Given the description of an element on the screen output the (x, y) to click on. 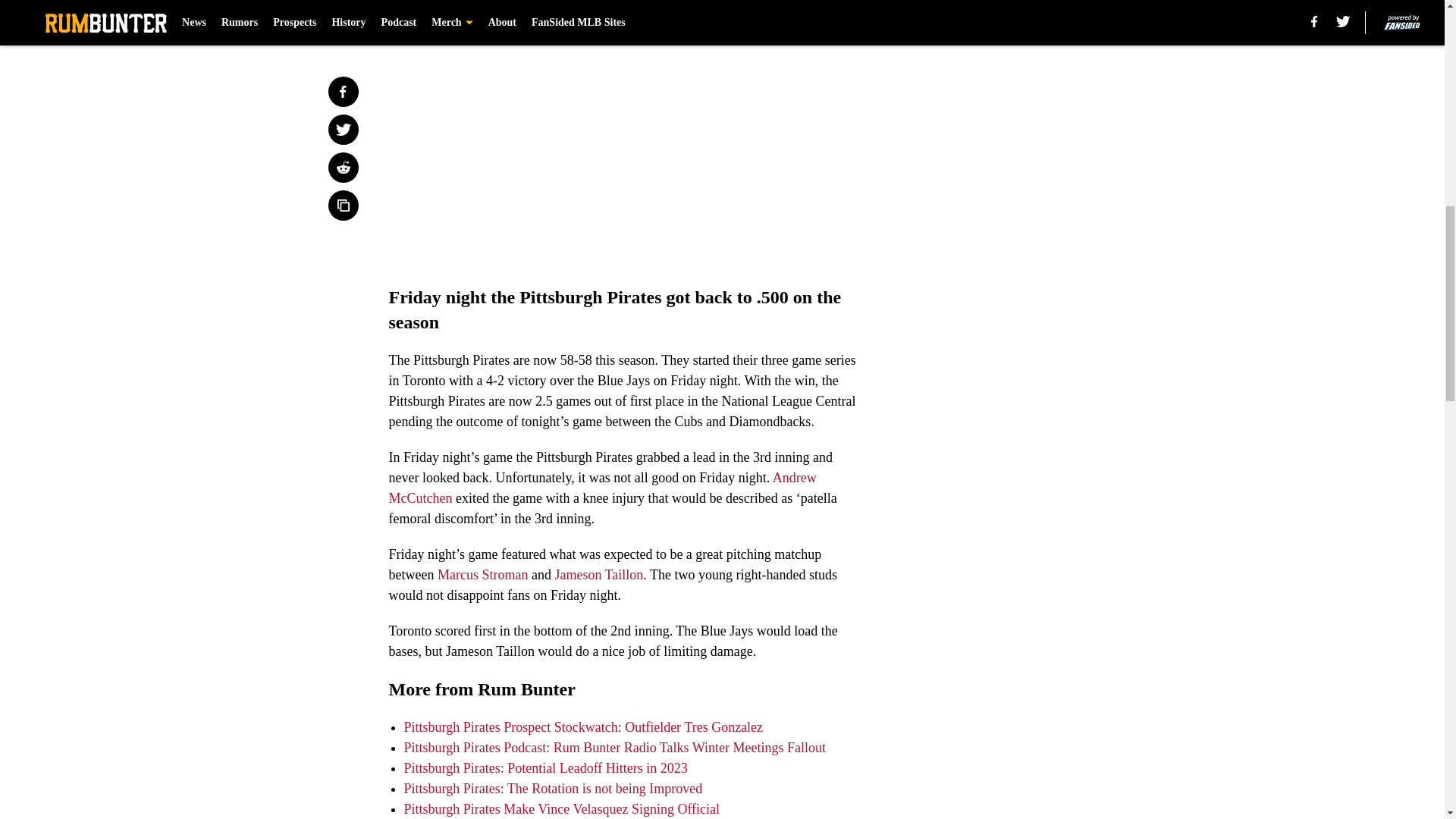
Pittsburgh Pirates: Potential Leadoff Hitters in 2023 (545, 767)
Jameson Taillon (598, 574)
Pittsburgh Pirates Make Vince Velasquez Signing Official (561, 808)
Andrew McCutchen (601, 488)
Pittsburgh Pirates: The Rotation is not being Improved (552, 788)
Marcus Stroman (482, 574)
